Given the description of an element on the screen output the (x, y) to click on. 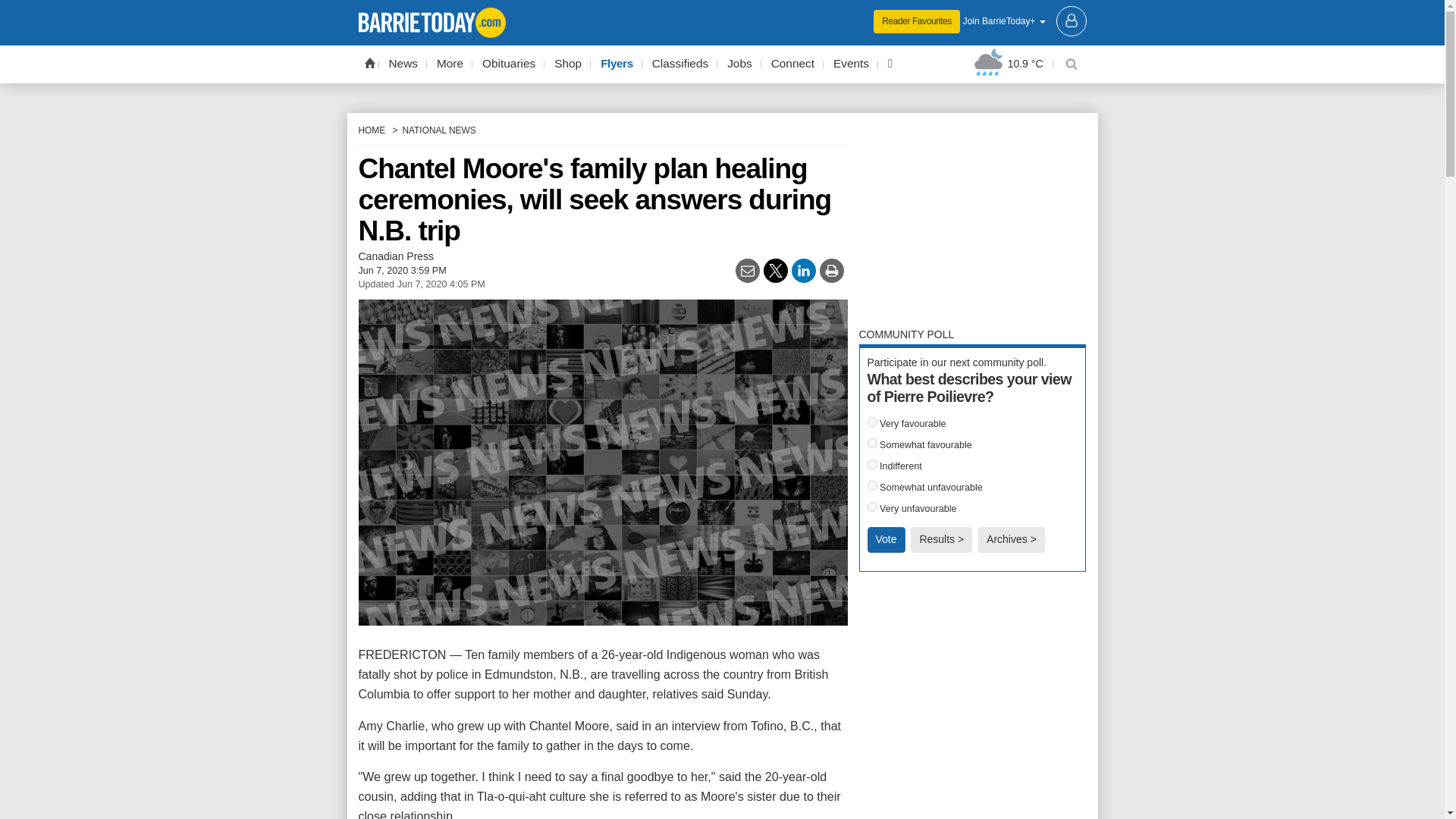
News (403, 64)
123109 (872, 485)
Reader Favourites (916, 21)
123108 (872, 464)
123110 (872, 506)
123106 (872, 421)
123107 (872, 442)
Home (368, 62)
